Given the description of an element on the screen output the (x, y) to click on. 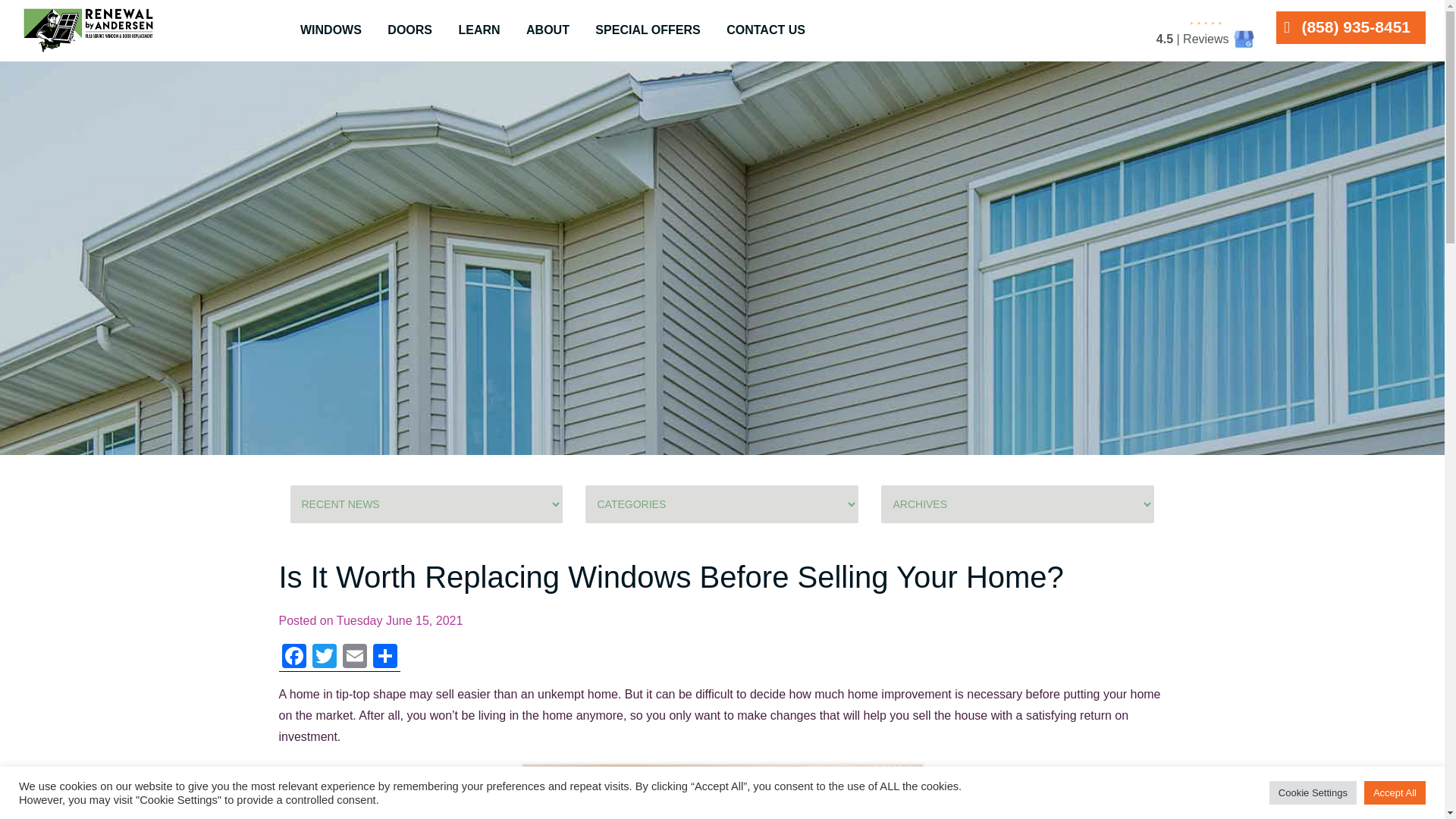
CONTACT US (765, 30)
SPECIAL OFFERS (647, 30)
GMB (1243, 38)
ABOUT (547, 30)
Learn More About Our Financing Options (722, 18)
Renewal by Andersen of San Diego CA (87, 30)
Facebook (293, 657)
WINDOWS (330, 30)
Facebook (293, 657)
Twitter (323, 657)
Email (354, 657)
DOORS (409, 30)
Twitter (323, 657)
LEARN (478, 30)
